Given the description of an element on the screen output the (x, y) to click on. 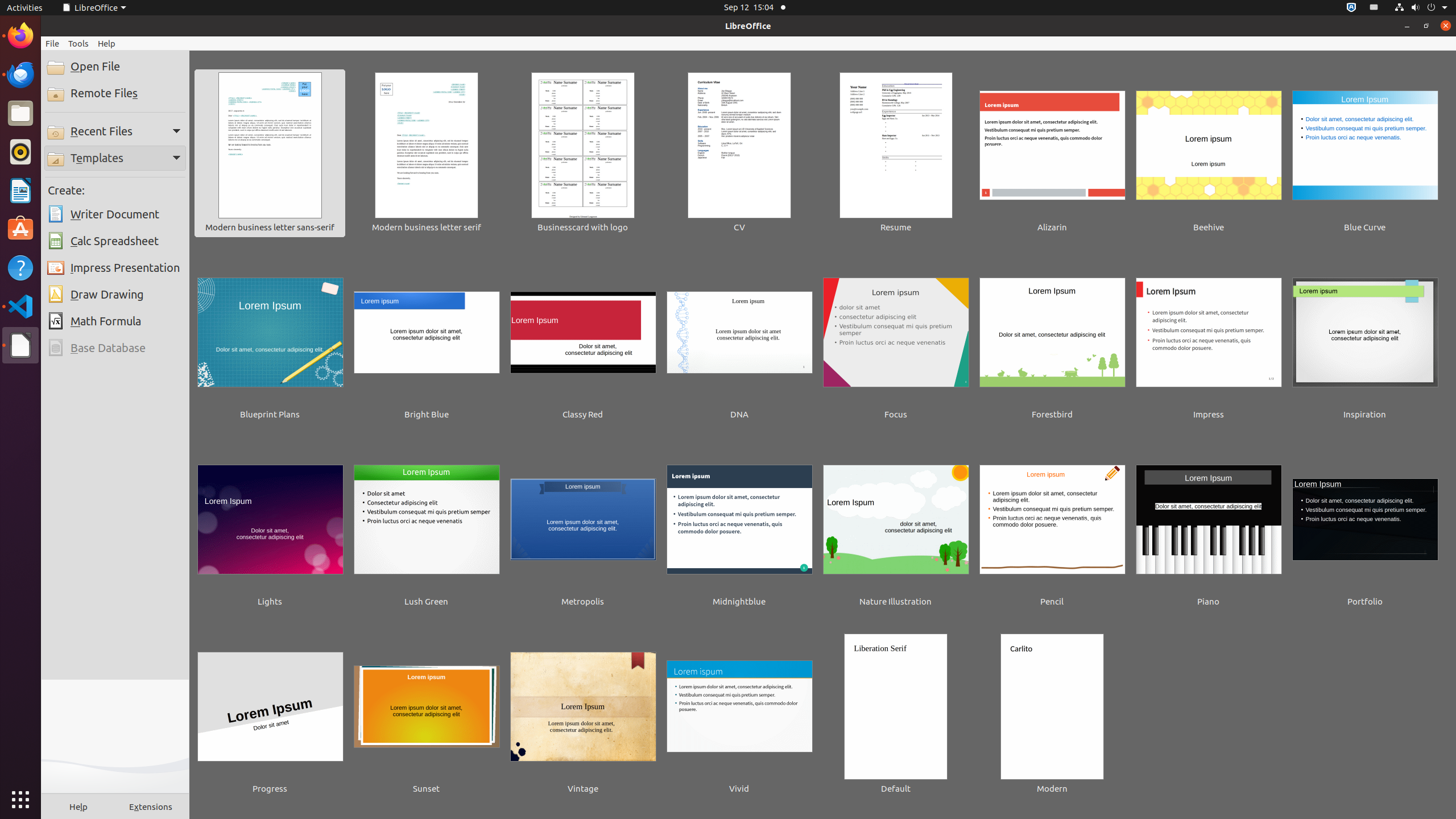
DNA Element type: list-item (739, 340)
LibreOffice Element type: menu (93, 7)
Pencil Element type: list-item (1051, 527)
